Given the description of an element on the screen output the (x, y) to click on. 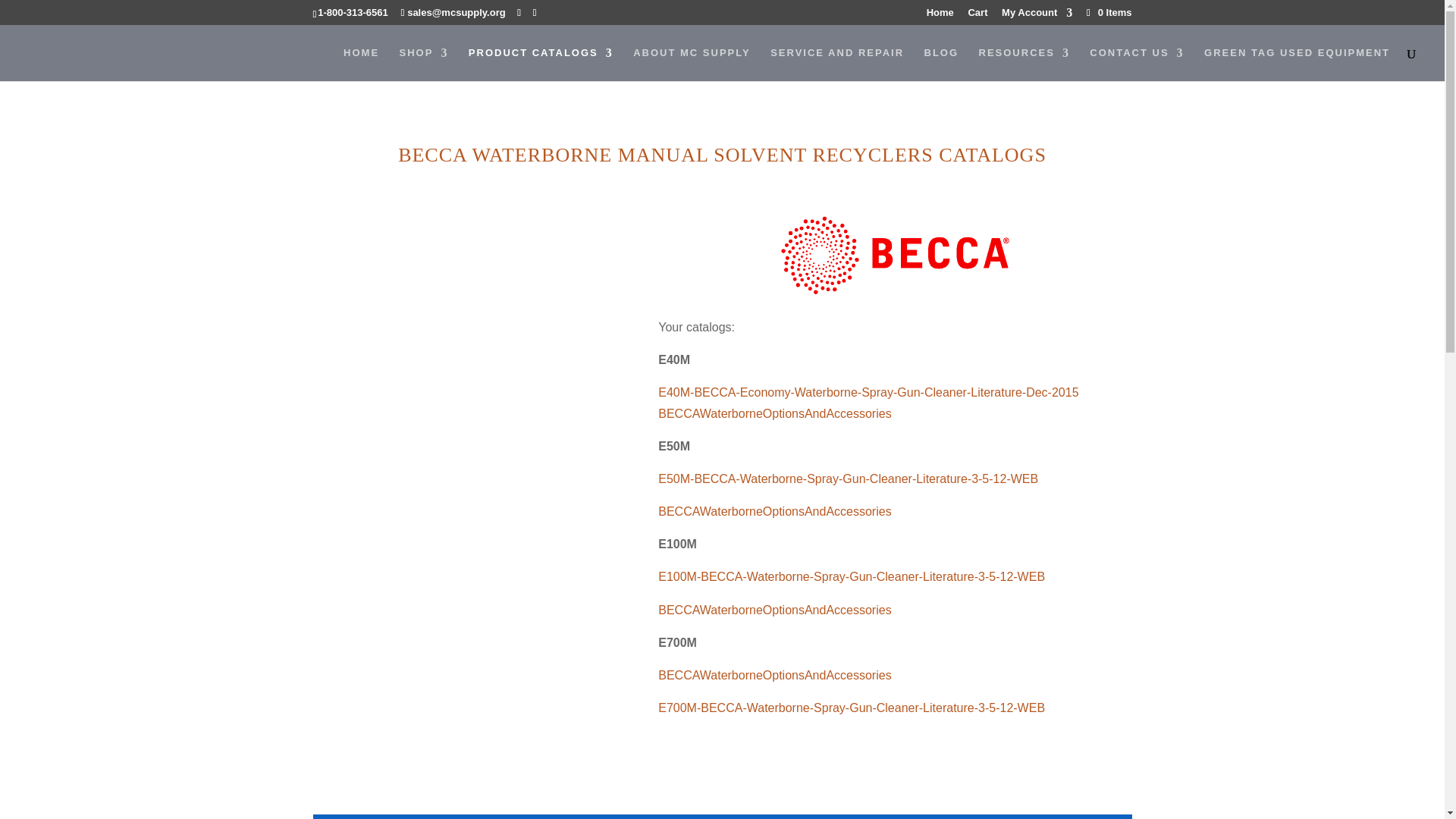
download (894, 255)
Cart (977, 16)
HOME (360, 63)
1-800-313-6561 (352, 12)
My Account (1036, 16)
SHOP (423, 63)
0 Items (1107, 12)
Home (939, 16)
